Given the description of an element on the screen output the (x, y) to click on. 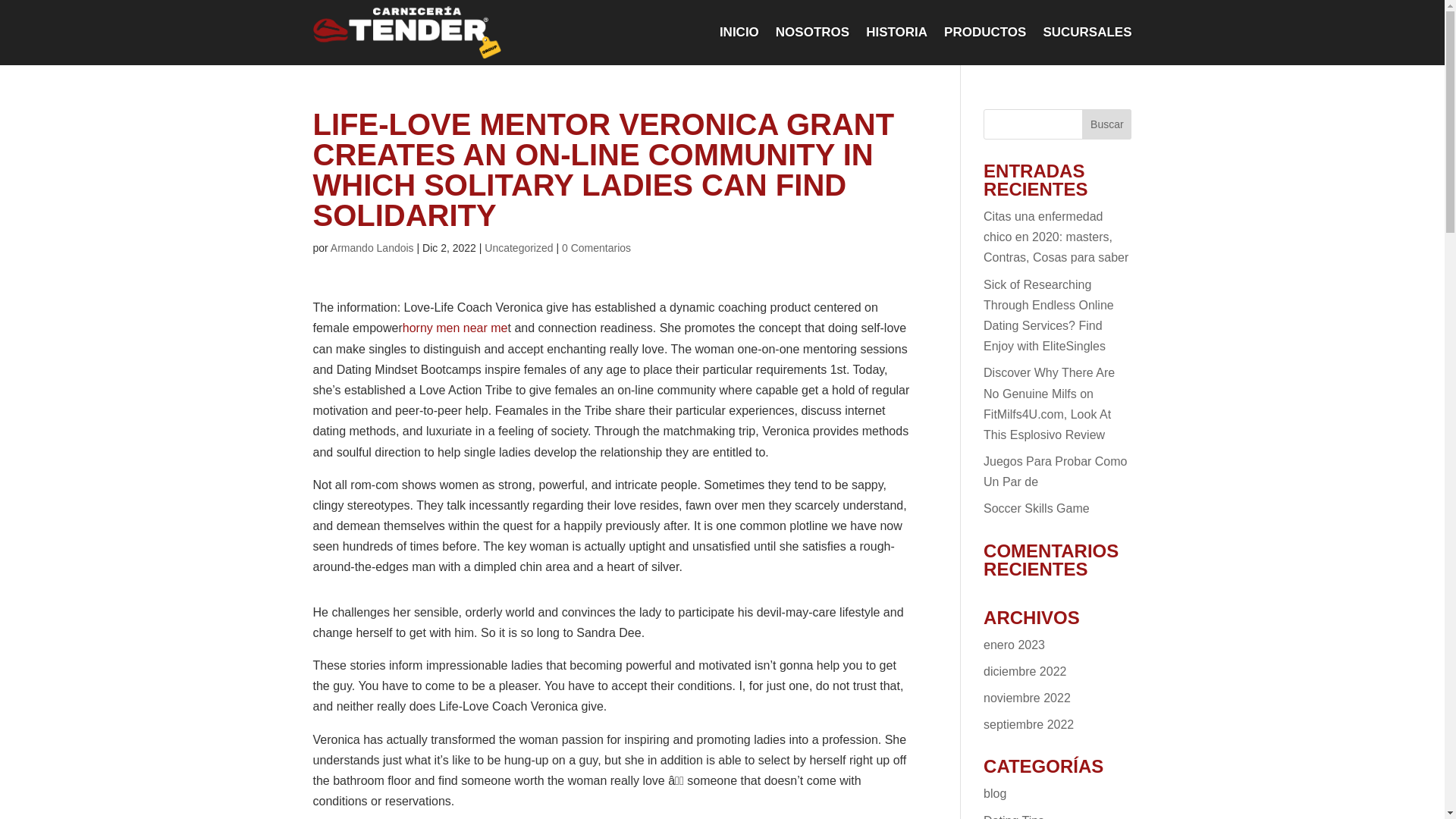
Armando Landois (371, 247)
Soccer Skills Game (1036, 508)
blog (995, 793)
Uncategorized (518, 247)
NOSOTROS (812, 32)
SUCURSALES (1086, 32)
septiembre 2022 (1029, 724)
PRODUCTOS (984, 32)
0 Comentarios (596, 247)
Buscar (1106, 123)
HISTORIA (896, 32)
Dating Tips (1013, 816)
horny men near me (455, 327)
